Given the description of an element on the screen output the (x, y) to click on. 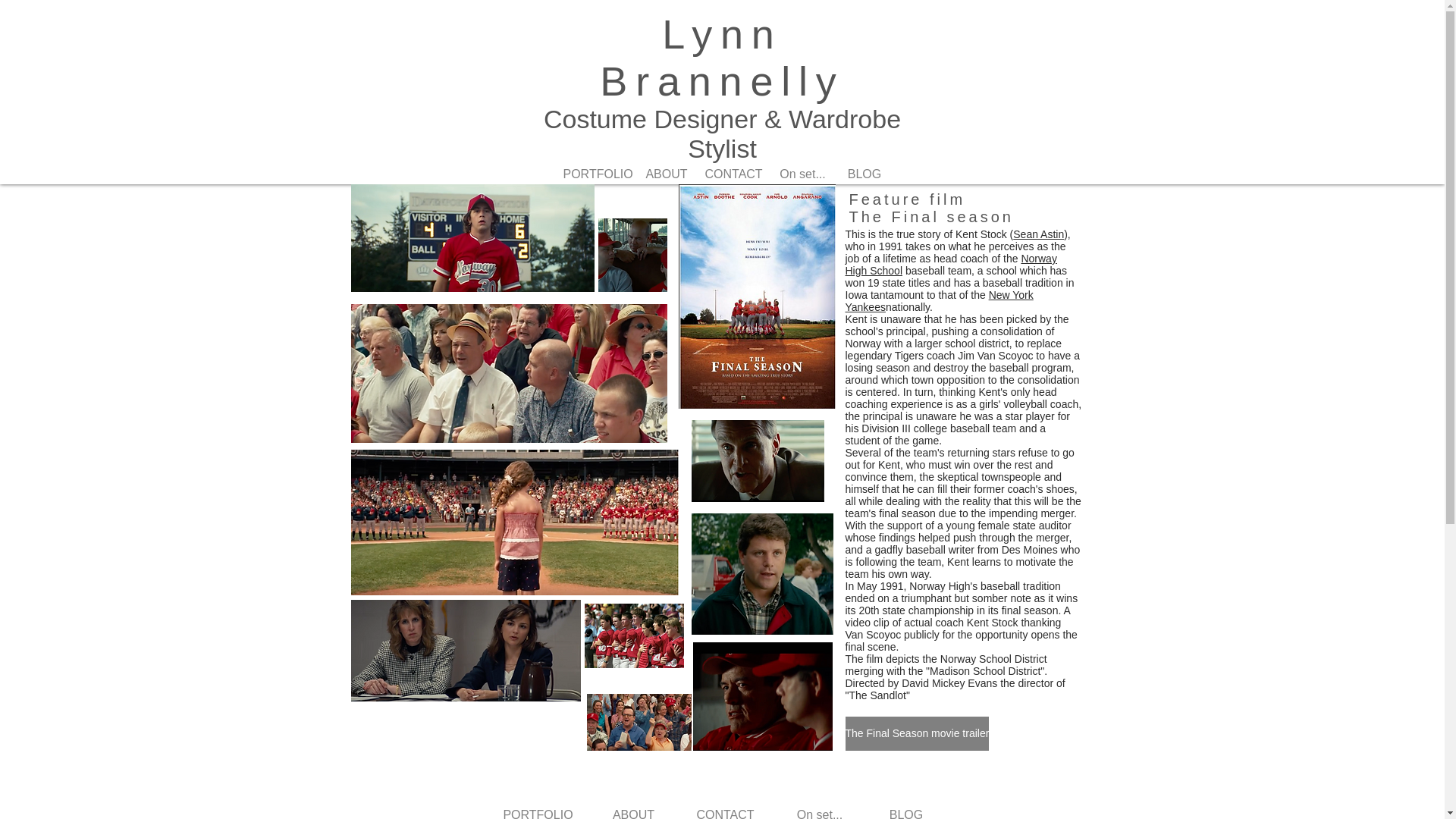
Sean Astin (1038, 234)
Norway High School (950, 264)
PORTFOLIO (594, 173)
ABOUT (633, 811)
ABOUT (665, 173)
On set... (801, 173)
CONTACT (733, 173)
New York Yankees (938, 300)
On set... (818, 811)
The Final Season movie trailer (916, 733)
Lynn Brannelly (721, 57)
CONTACT (725, 811)
BLOG (863, 173)
PORTFOLIO (536, 811)
